Given the description of an element on the screen output the (x, y) to click on. 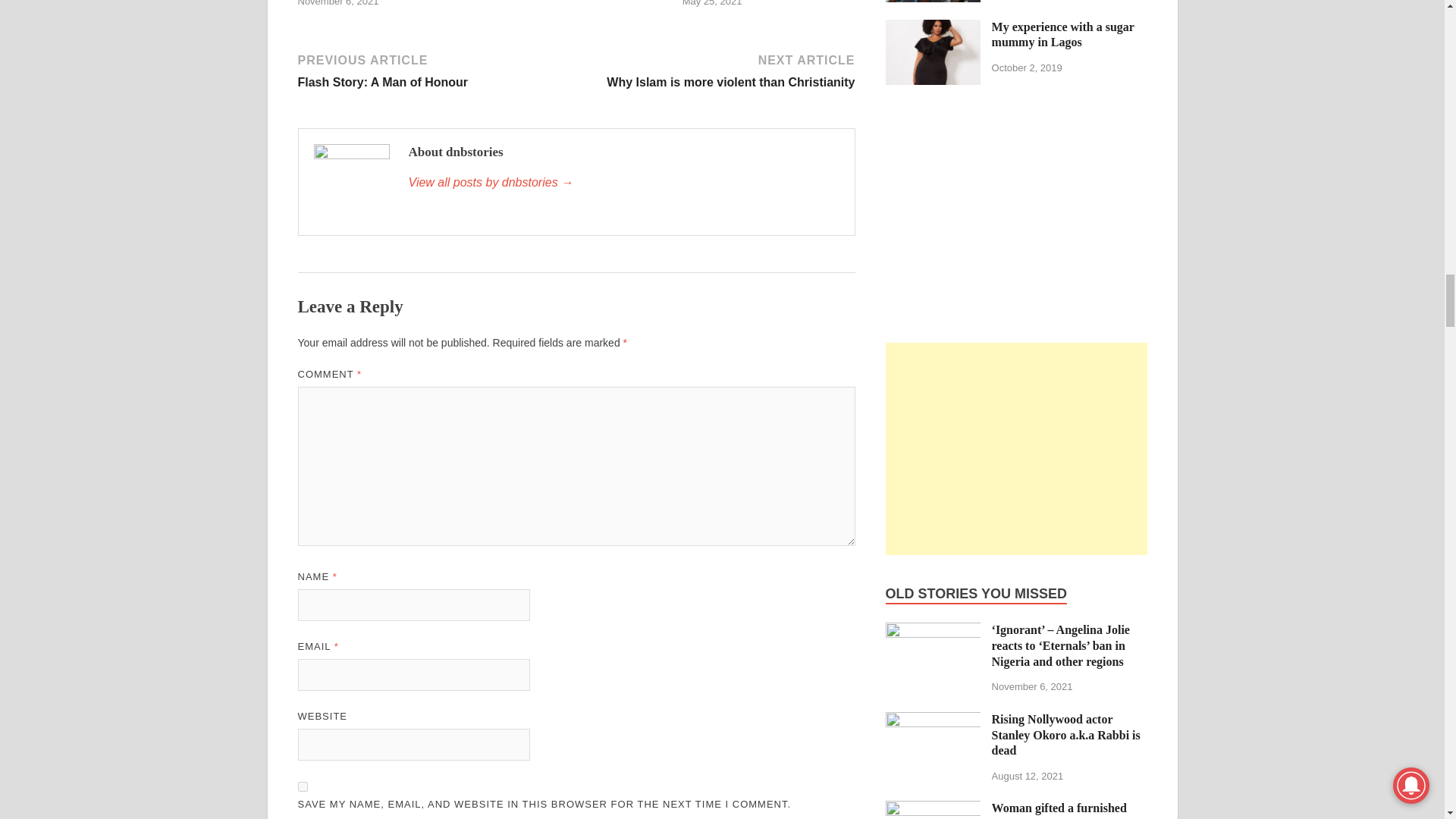
yes (302, 786)
